Given the description of an element on the screen output the (x, y) to click on. 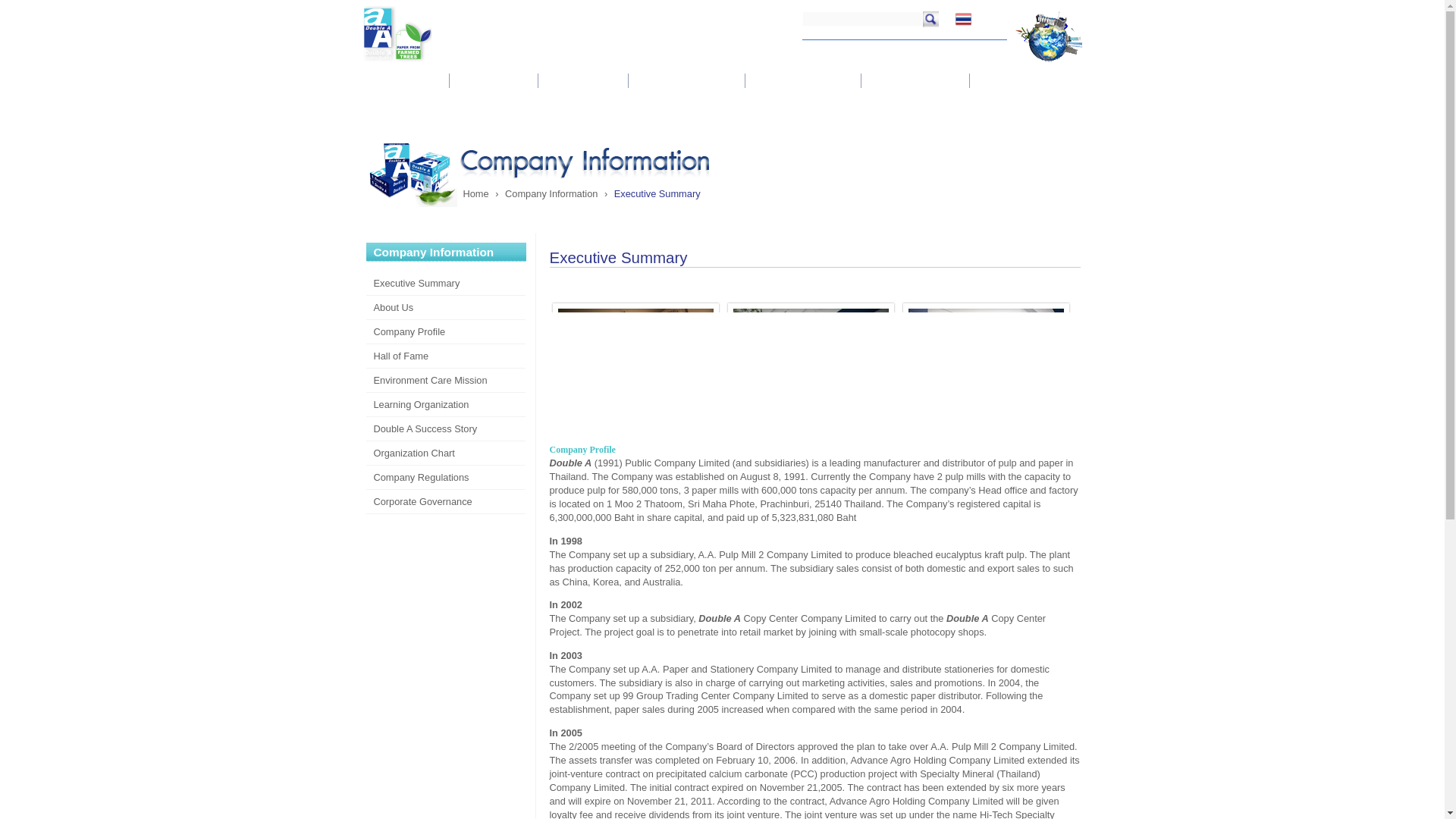
News (854, 49)
Information for Shareholders (686, 80)
Sitemap (959, 49)
Home (813, 49)
Company Information (404, 80)
Double A Global (1046, 61)
Information for Bondholders (803, 80)
Business Information (493, 80)
Financial Information (583, 80)
Contact Us (904, 49)
